Given the description of an element on the screen output the (x, y) to click on. 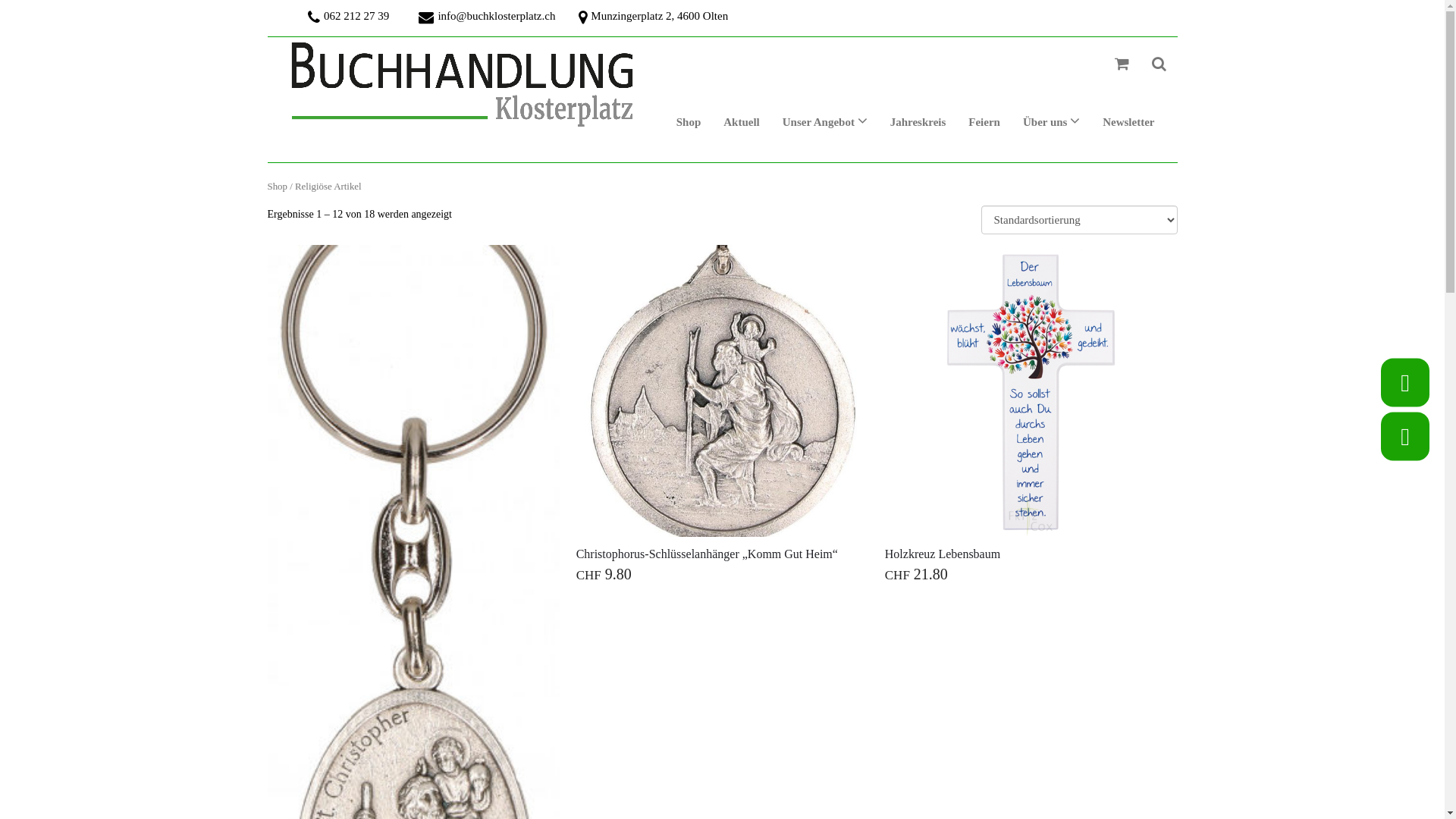
Shop Element type: text (276, 186)
Instagram Element type: hover (1404, 381)
062 212 27 39 Element type: text (351, 18)
Holzkreuz Lebensbaum
CHF 21.80 Element type: text (1030, 415)
Jahreskreis Element type: text (917, 122)
Shop Element type: text (688, 122)
Newsletter Element type: text (1128, 122)
buchhandlungklosterplatz Element type: hover (462, 65)
Unser Angebot Element type: text (824, 122)
info@buchklosterplatz.ch Element type: text (490, 18)
Aktuell Element type: text (741, 122)
Facebook Element type: hover (1404, 436)
Feiern Element type: text (984, 122)
0 Element type: text (1120, 65)
